Given the description of an element on the screen output the (x, y) to click on. 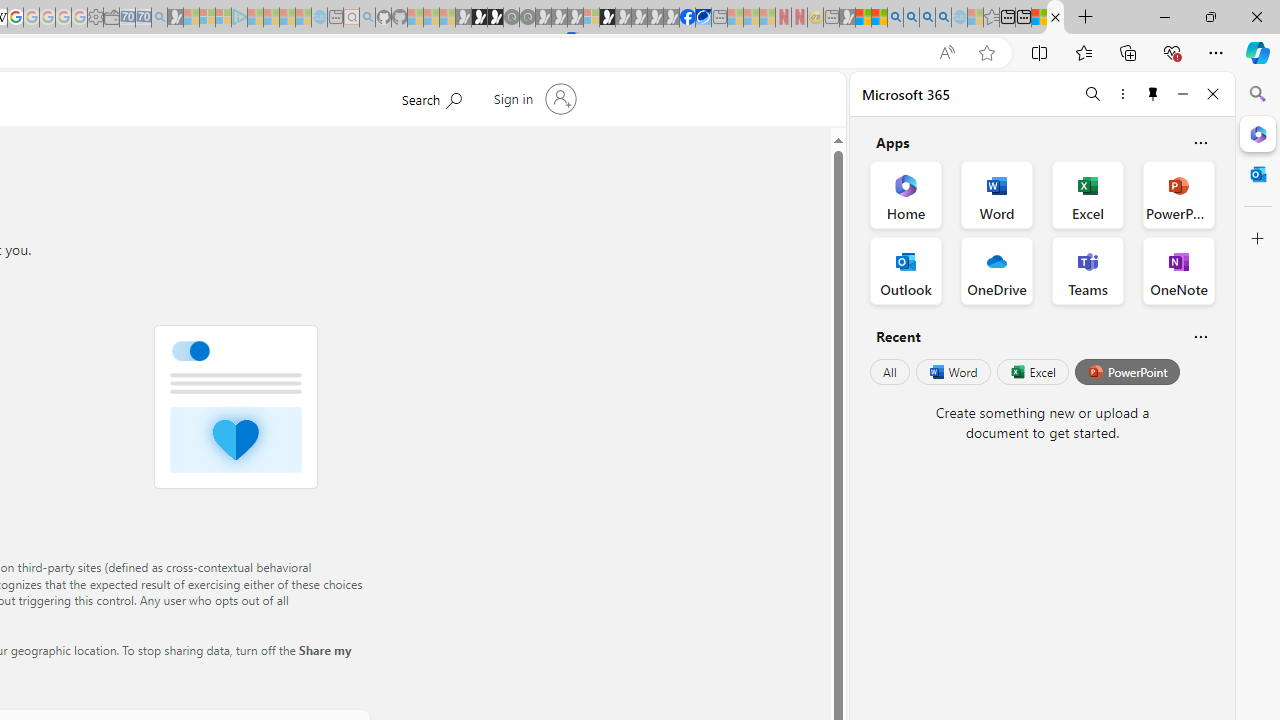
Future Focus Report 2024 - Sleeping (527, 17)
Home Office App (906, 194)
All (890, 372)
Search Microsoft.com (431, 97)
github - Search - Sleeping (367, 17)
Play Zoo Boom in your browser | Games from Microsoft Start (479, 17)
